Given the description of an element on the screen output the (x, y) to click on. 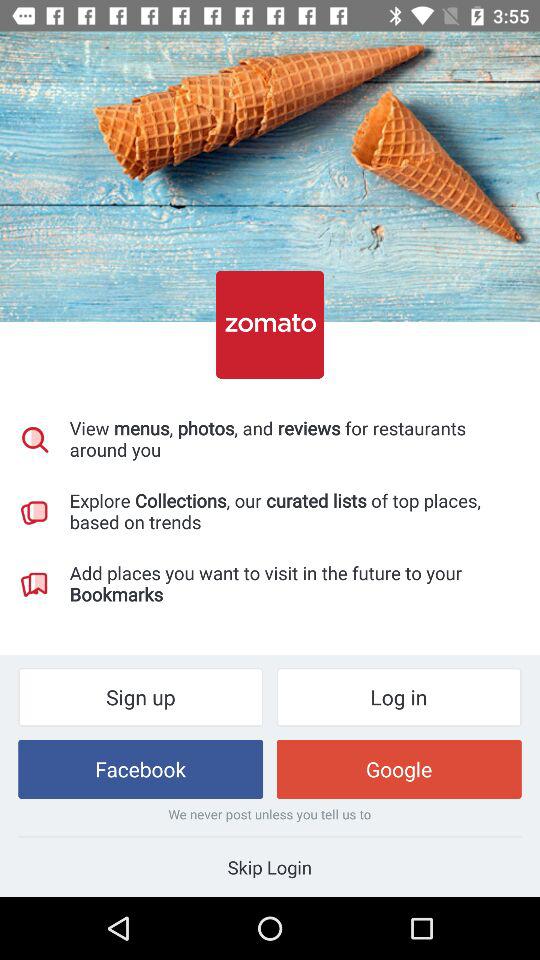
jump until the google item (398, 768)
